Given the description of an element on the screen output the (x, y) to click on. 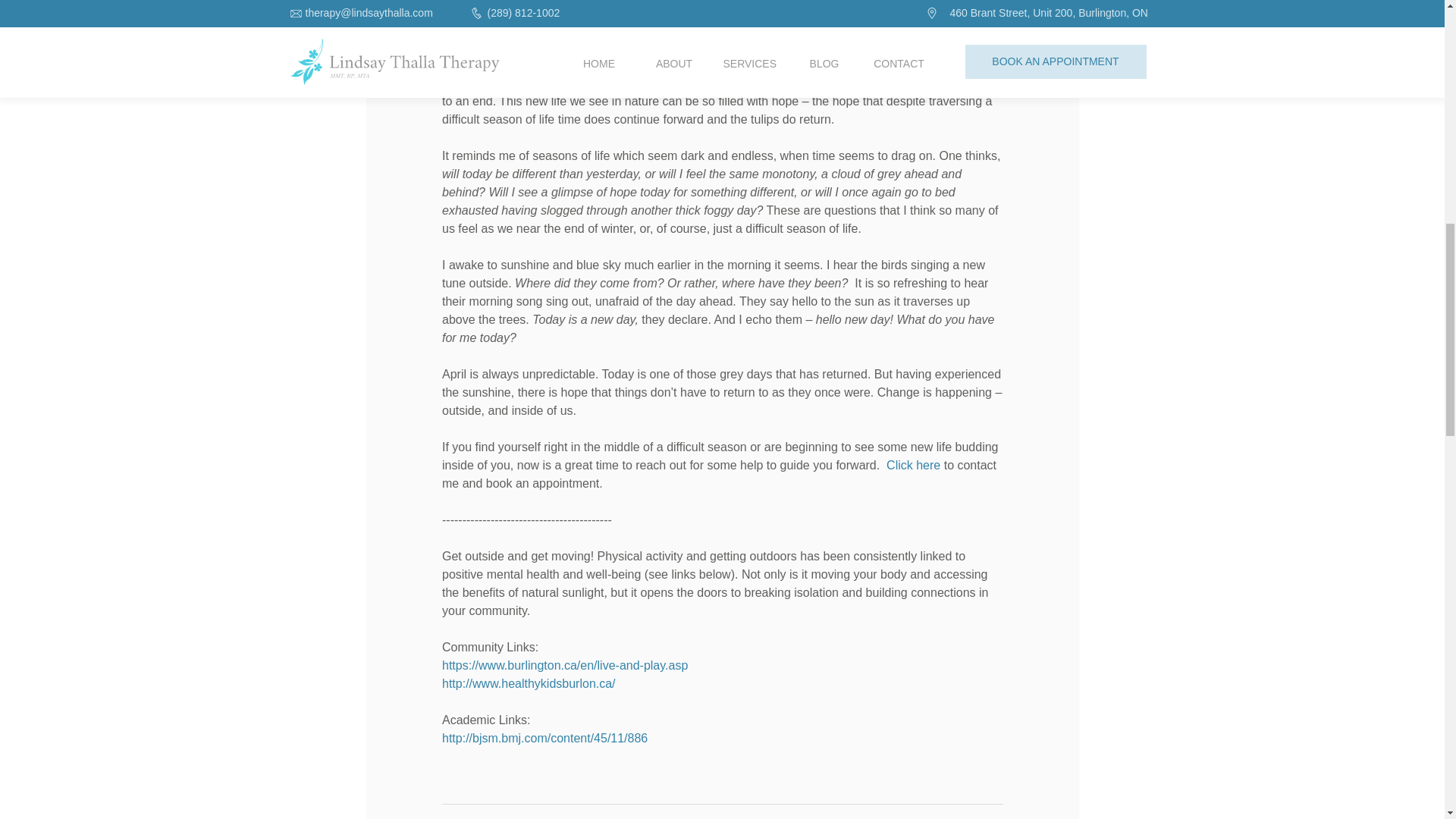
Click here (913, 464)
